Given the description of an element on the screen output the (x, y) to click on. 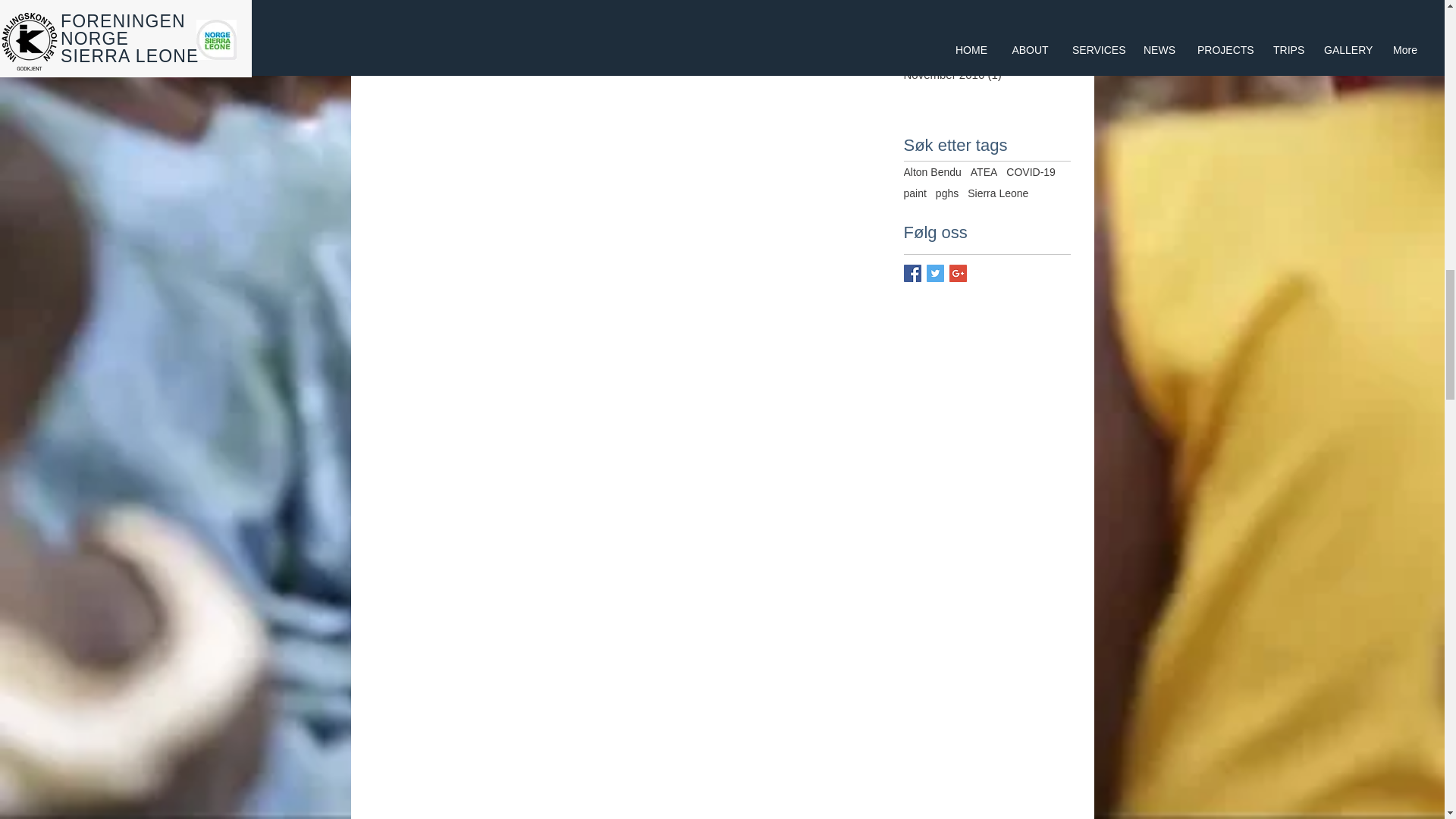
ATEA (984, 172)
Alton Bendu (932, 172)
